Given the description of an element on the screen output the (x, y) to click on. 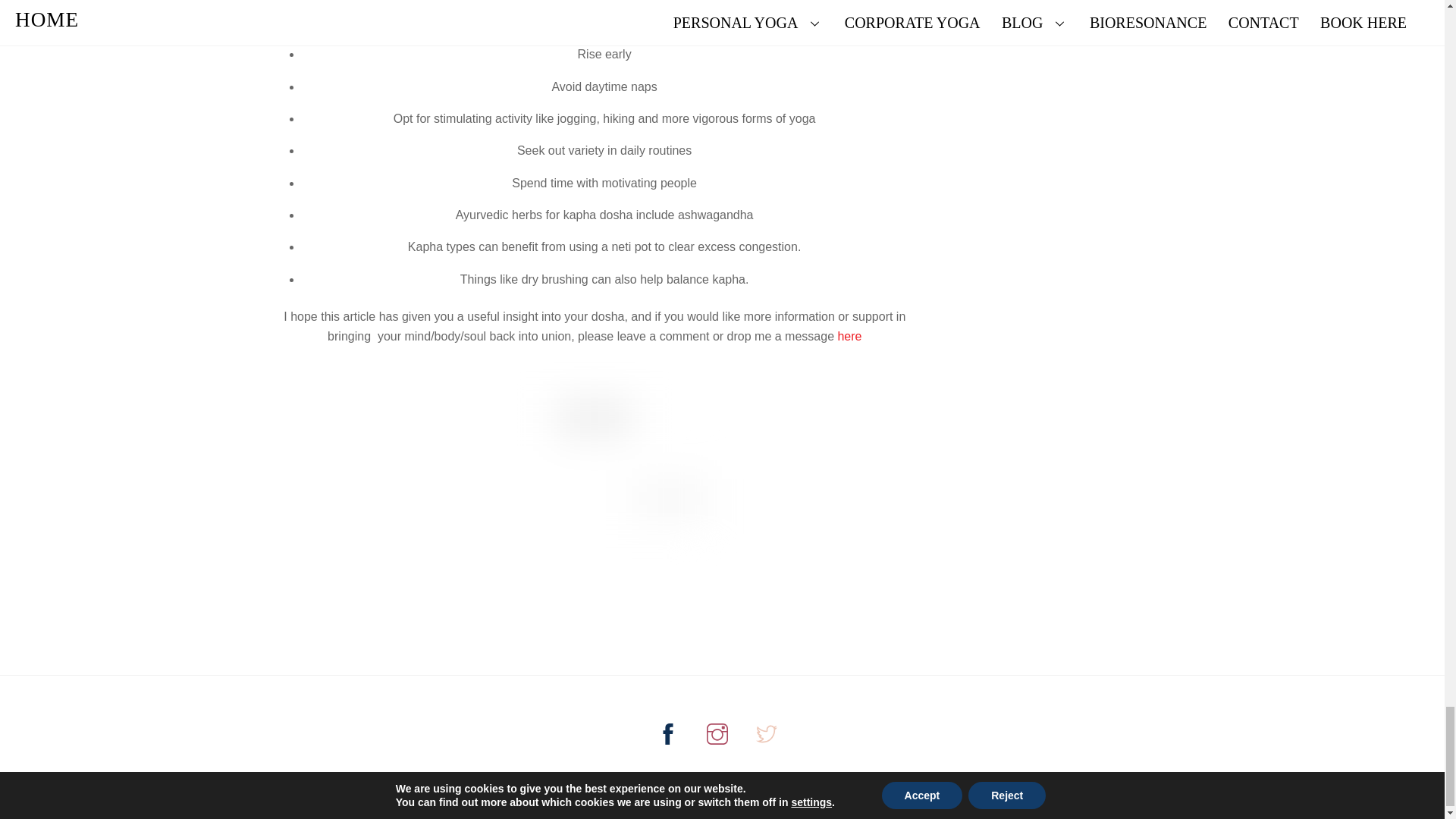
Home (715, 778)
here (849, 336)
